Given the description of an element on the screen output the (x, y) to click on. 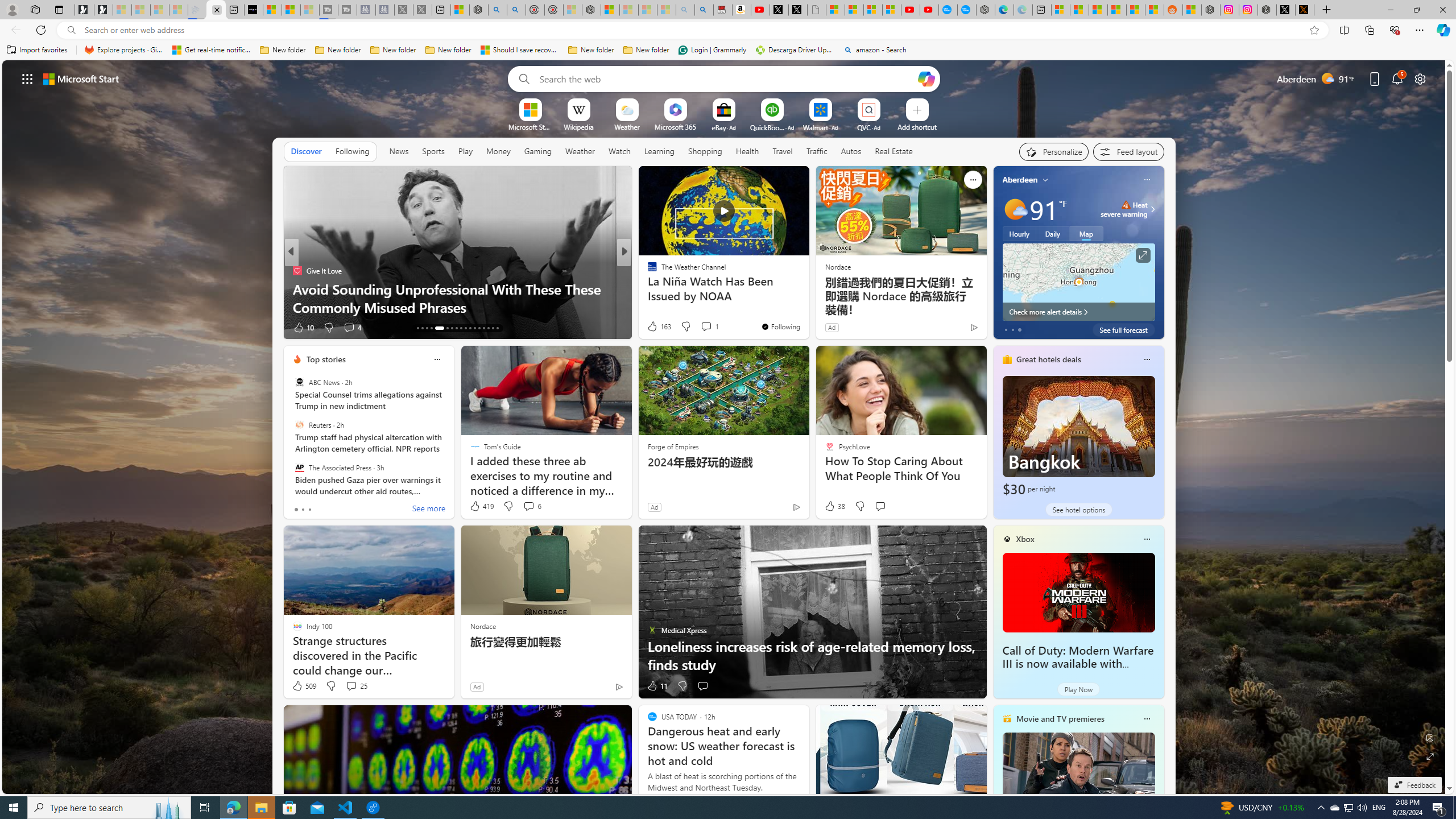
poe - Search (497, 9)
See hotel options (1078, 509)
AutomationID: tab-25 (478, 328)
The Weather Channel (647, 270)
163 Like (658, 326)
509 Like (303, 685)
